Given the description of an element on the screen output the (x, y) to click on. 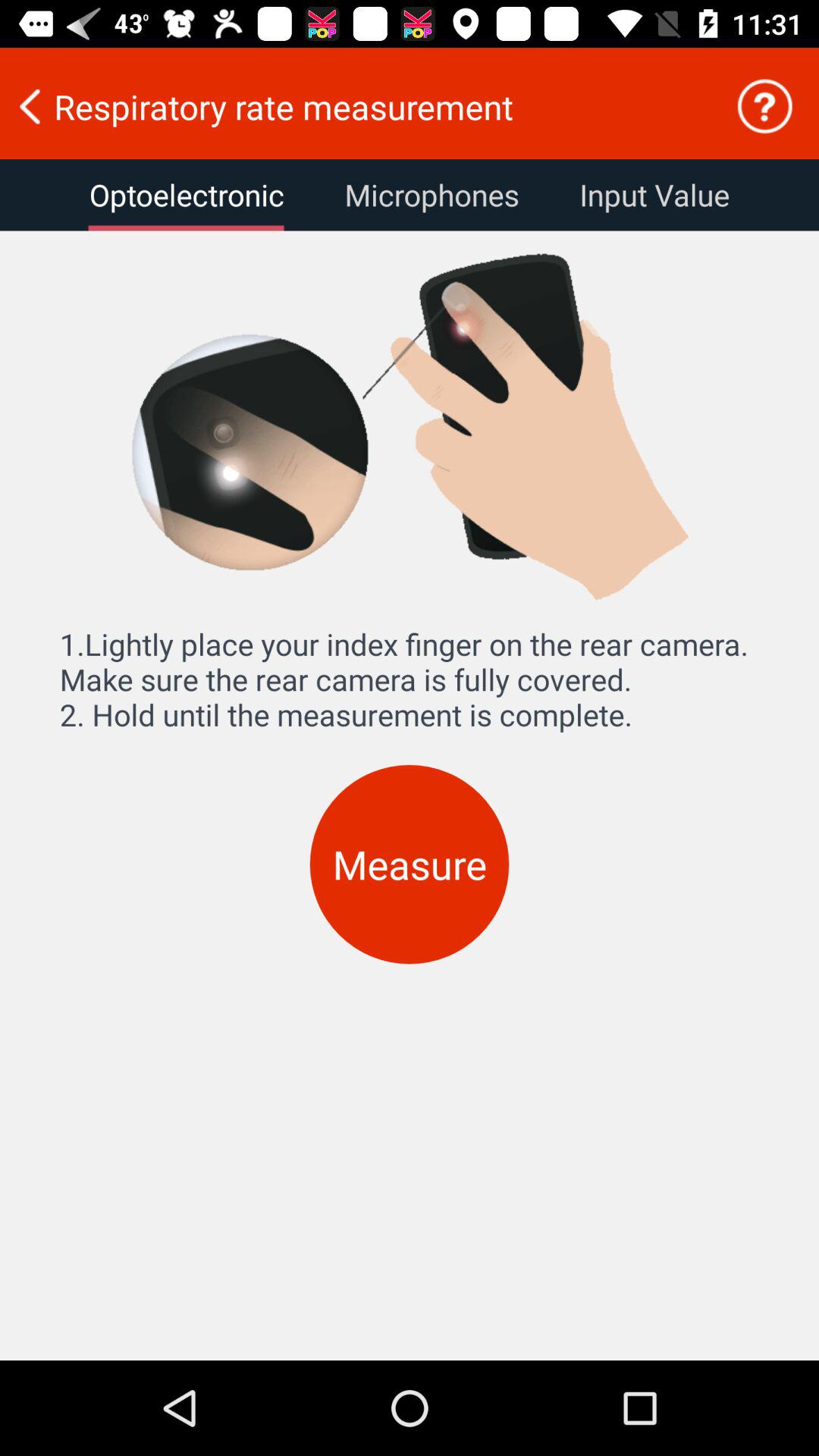
tap item below 1 lightly place icon (409, 864)
